Given the description of an element on the screen output the (x, y) to click on. 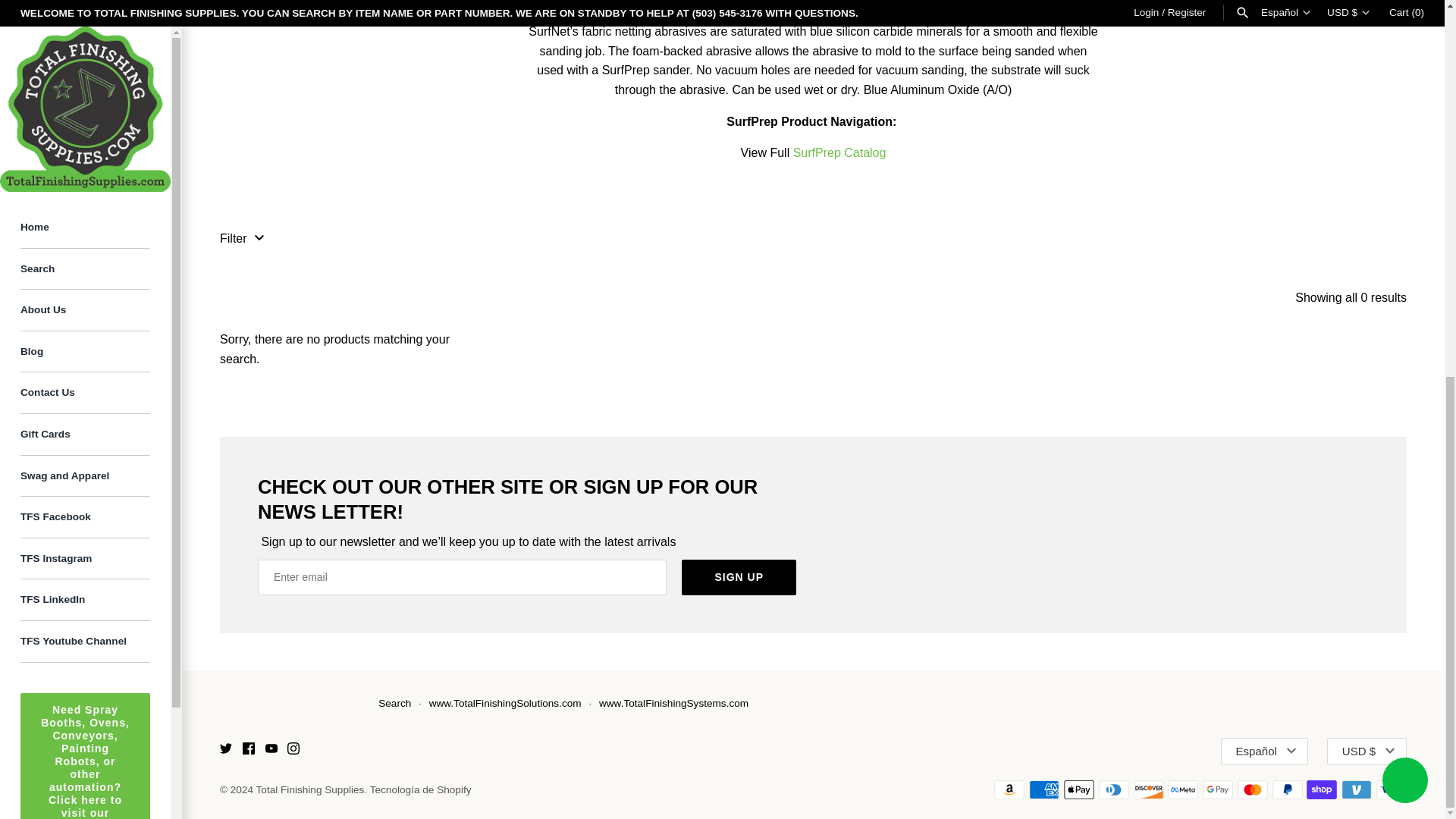
Click Here (84, 194)
American Express (1044, 789)
Facebook (248, 750)
PayPal (1287, 789)
Meta Pay (1182, 789)
SurfPrep Catalog (839, 152)
Shop Pay (1321, 789)
Twitter (225, 750)
Twitter (225, 748)
Apple Pay (1079, 789)
